Given the description of an element on the screen output the (x, y) to click on. 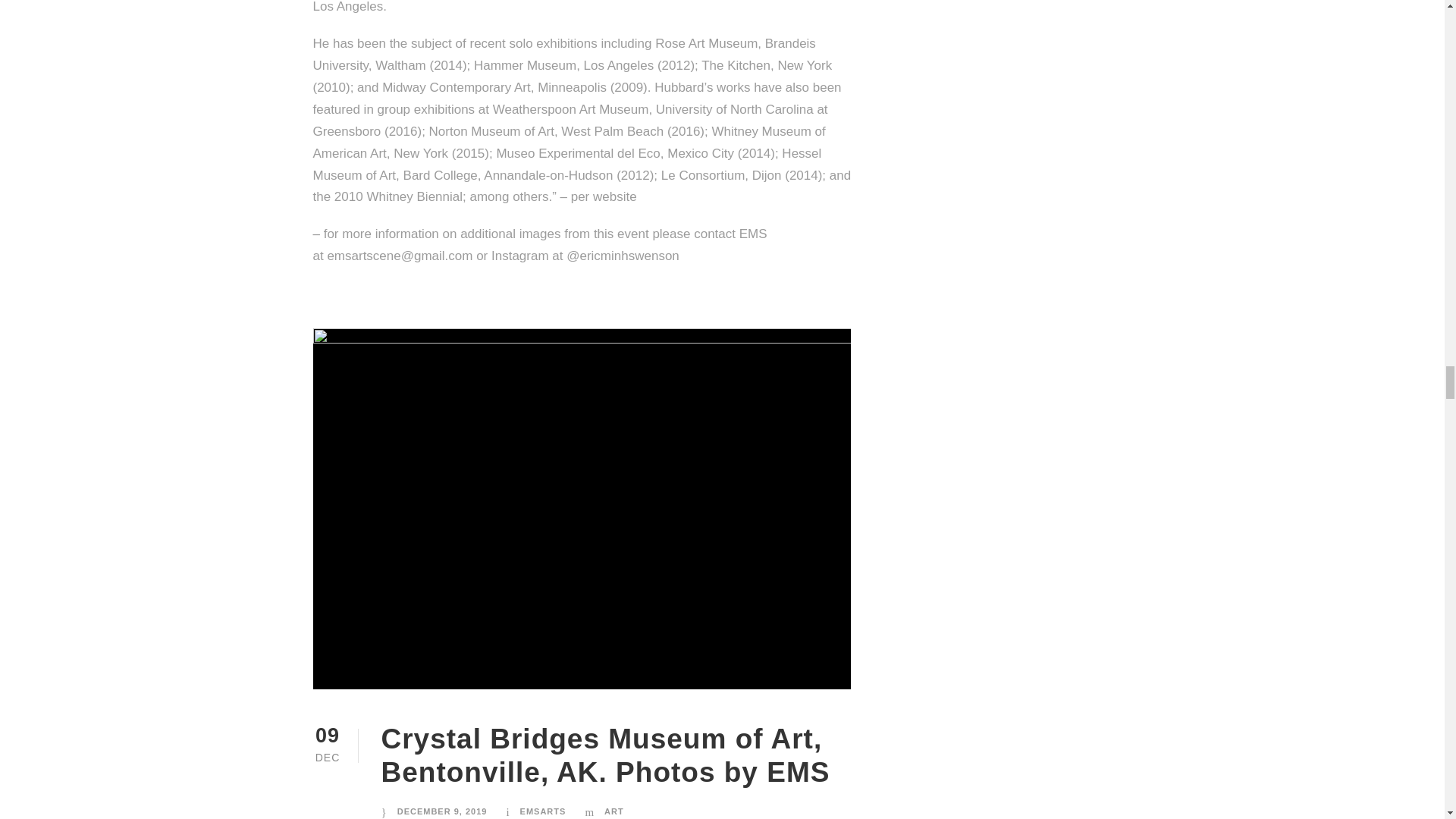
Posts by emsarts (542, 810)
